Given the description of an element on the screen output the (x, y) to click on. 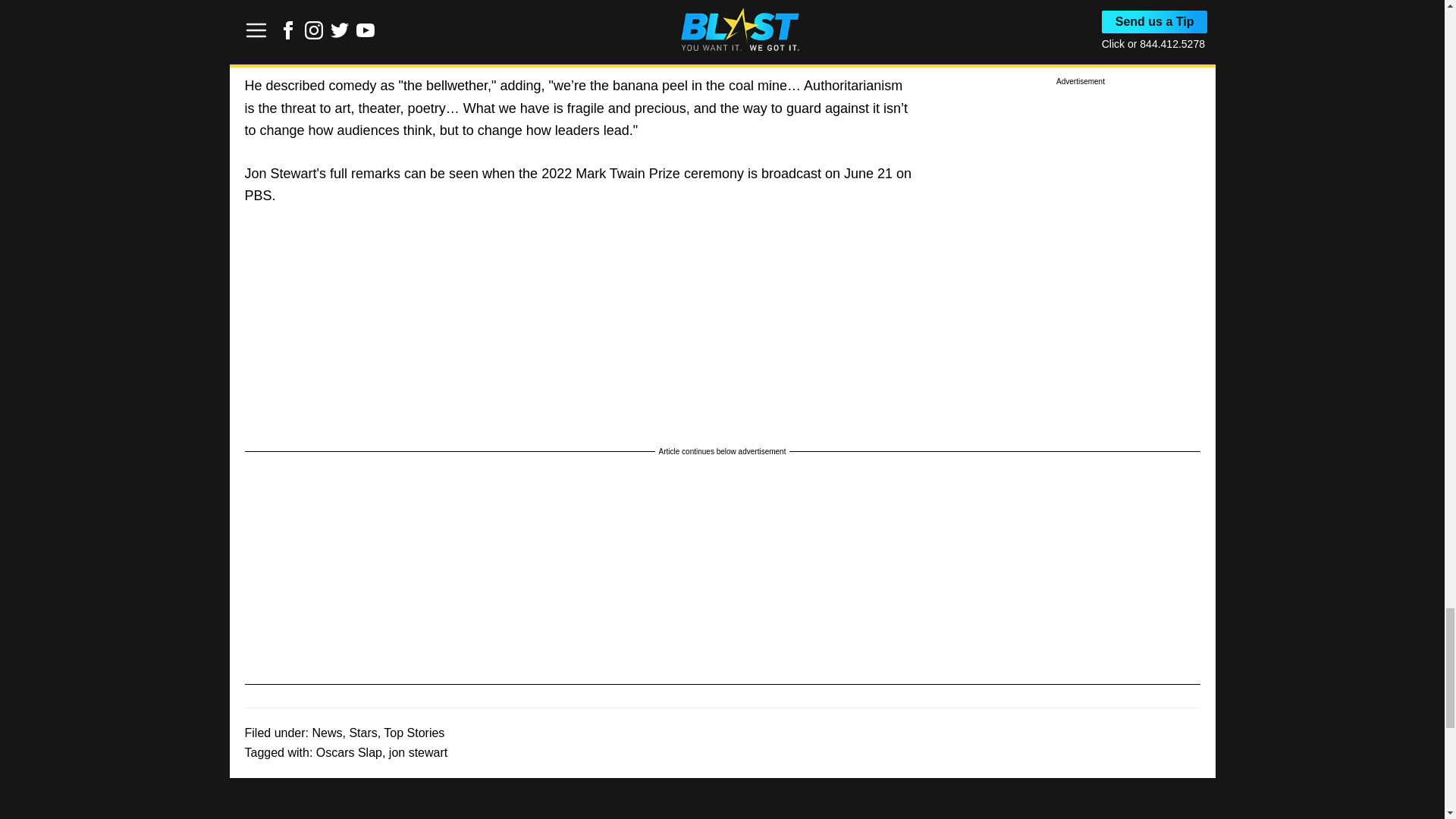
jon stewart (417, 752)
Stars (363, 732)
Top Stories (414, 732)
News (326, 732)
Oscars Slap (348, 752)
